Given the description of an element on the screen output the (x, y) to click on. 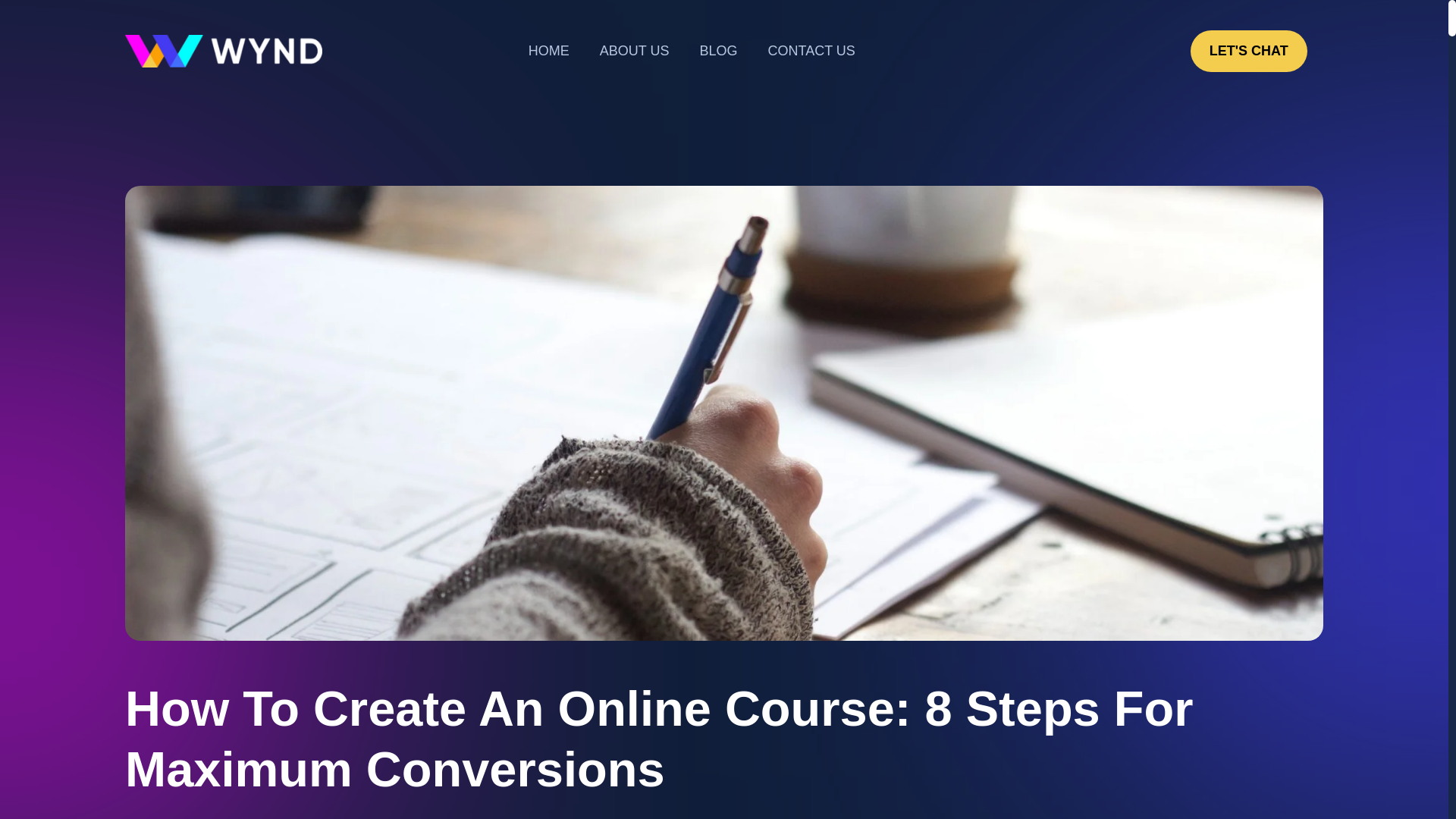
LET'S CHAT (1249, 51)
BLOG (718, 51)
ABOUT US (634, 51)
CONTACT US (810, 51)
HOME (549, 51)
